Given the description of an element on the screen output the (x, y) to click on. 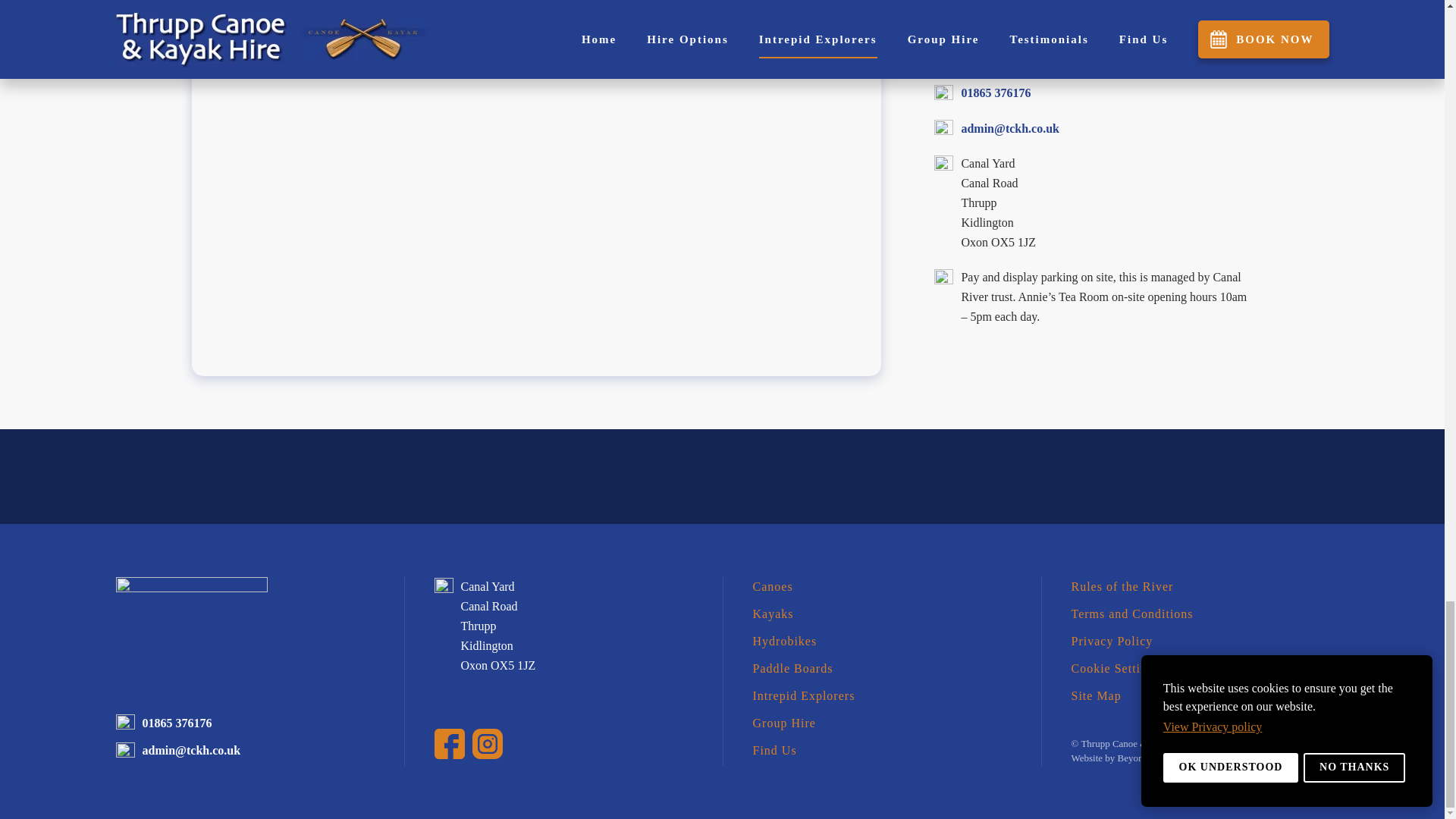
01865 376176 (995, 92)
01865 376176 (177, 722)
